Given the description of an element on the screen output the (x, y) to click on. 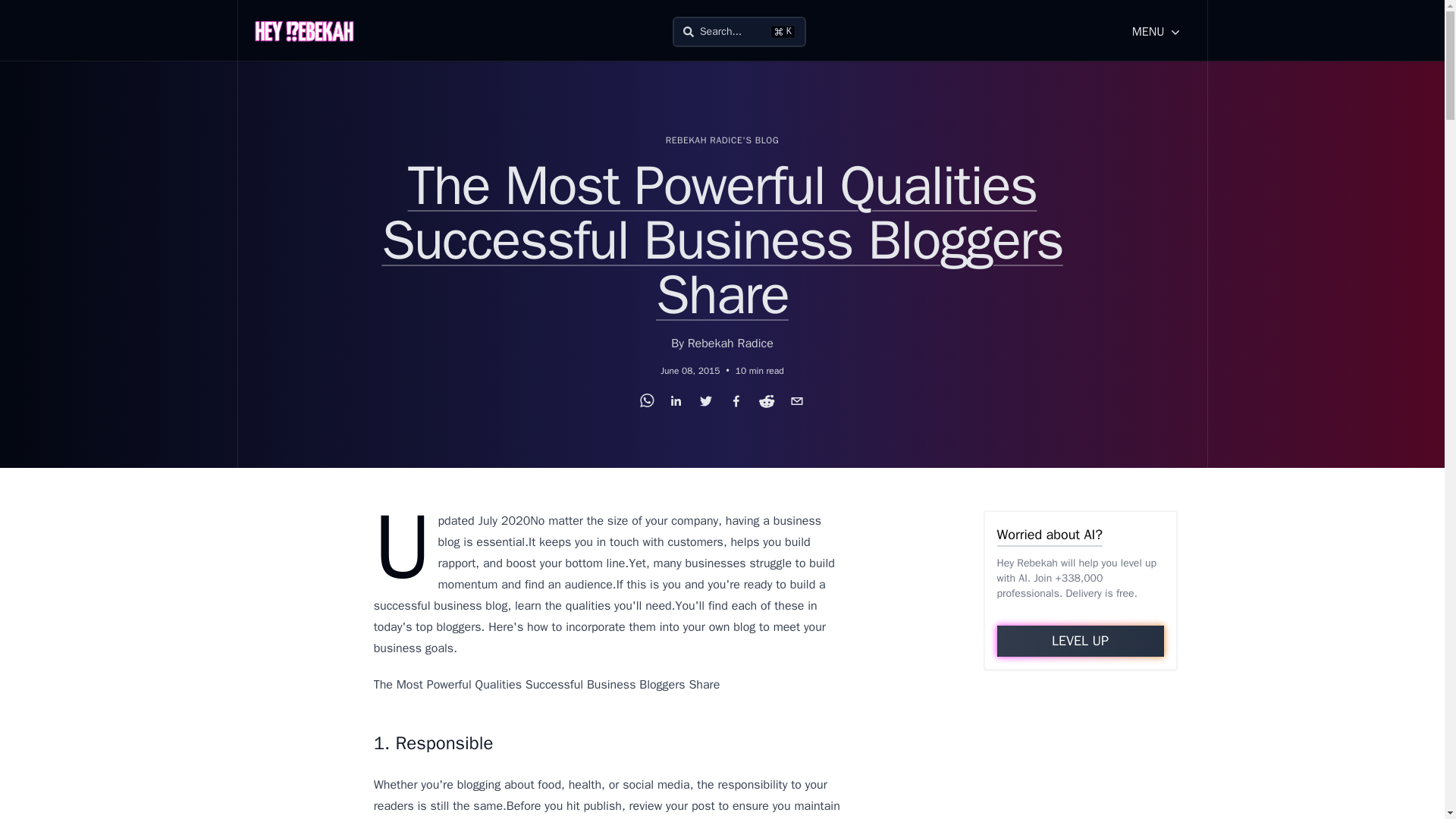
LEVEL UP (739, 31)
Rebekah Radice (1079, 640)
MENU (730, 343)
